Given the description of an element on the screen output the (x, y) to click on. 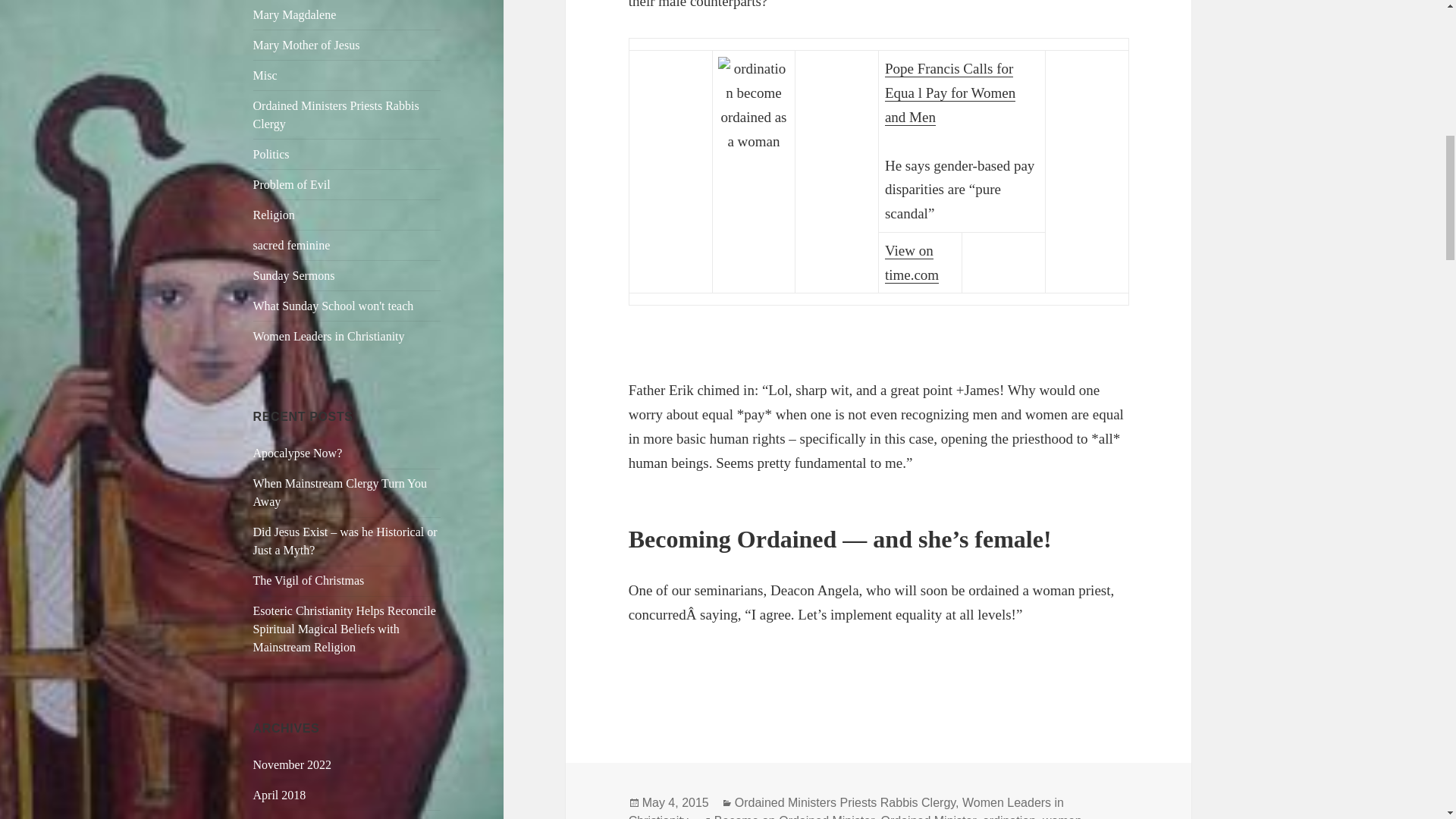
The Vigil of Christmas (309, 580)
Sunday Sermons (293, 275)
Apocalypse Now? (297, 452)
Mary Mother of Jesus (306, 44)
November 2022 (292, 764)
Problem of Evil (291, 184)
Misc (265, 74)
What Sunday School won't teach (333, 305)
Women Leaders in Christianity (328, 336)
sacred feminine (291, 245)
Politics (271, 154)
Religion (274, 214)
When Mainstream Clergy Turn You Away (340, 491)
Ordained Ministers Priests Rabbis Clergy (336, 114)
Mary Magdalene (294, 14)
